Given the description of an element on the screen output the (x, y) to click on. 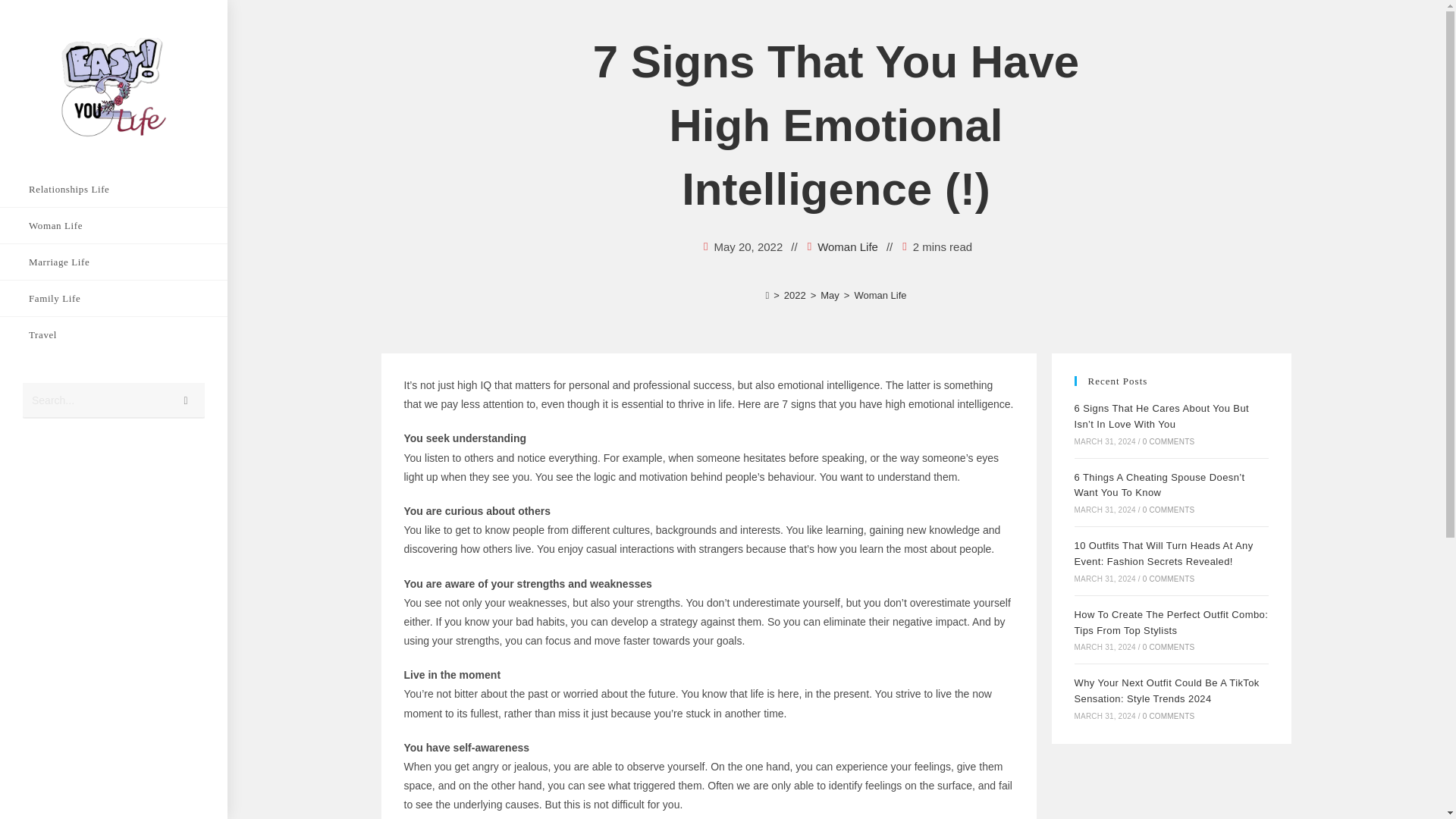
0 COMMENTS (1168, 578)
Marriage Life (113, 262)
2022 (795, 295)
Family Life (113, 298)
Submit search (186, 400)
0 COMMENTS (1168, 715)
Relationships Life (113, 189)
0 COMMENTS (1168, 441)
Woman Life (879, 295)
Travel (113, 334)
Woman Life (846, 246)
0 COMMENTS (1168, 646)
